Given the description of an element on the screen output the (x, y) to click on. 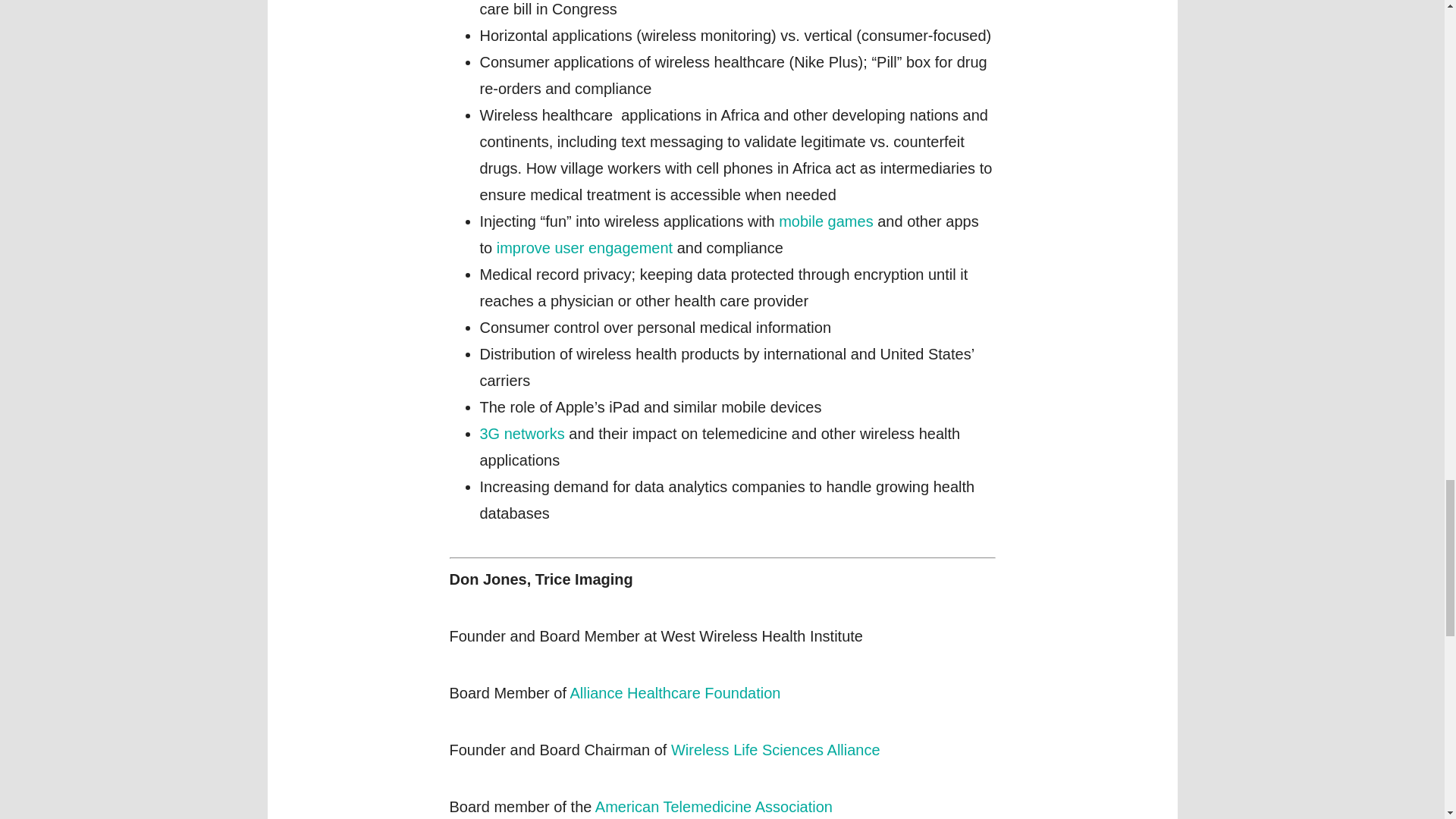
mobile games (825, 220)
improve user engagement (584, 247)
3G wireless - CTIA announcements (521, 433)
Alliance Healthcare Foundation (674, 692)
Wireless Life Sciences Alliance (775, 750)
American Telemedicine Association (713, 805)
Wireless Life Sciences Alliance (775, 750)
Alliance Healthcare Foundation (674, 692)
American Telemedicine Association (713, 805)
Craig Dalton of mPlayit talks about mobile games market (825, 220)
smartphone user engagement with joy liuzzo of InsightExpress (584, 247)
3G networks (521, 433)
